Given the description of an element on the screen output the (x, y) to click on. 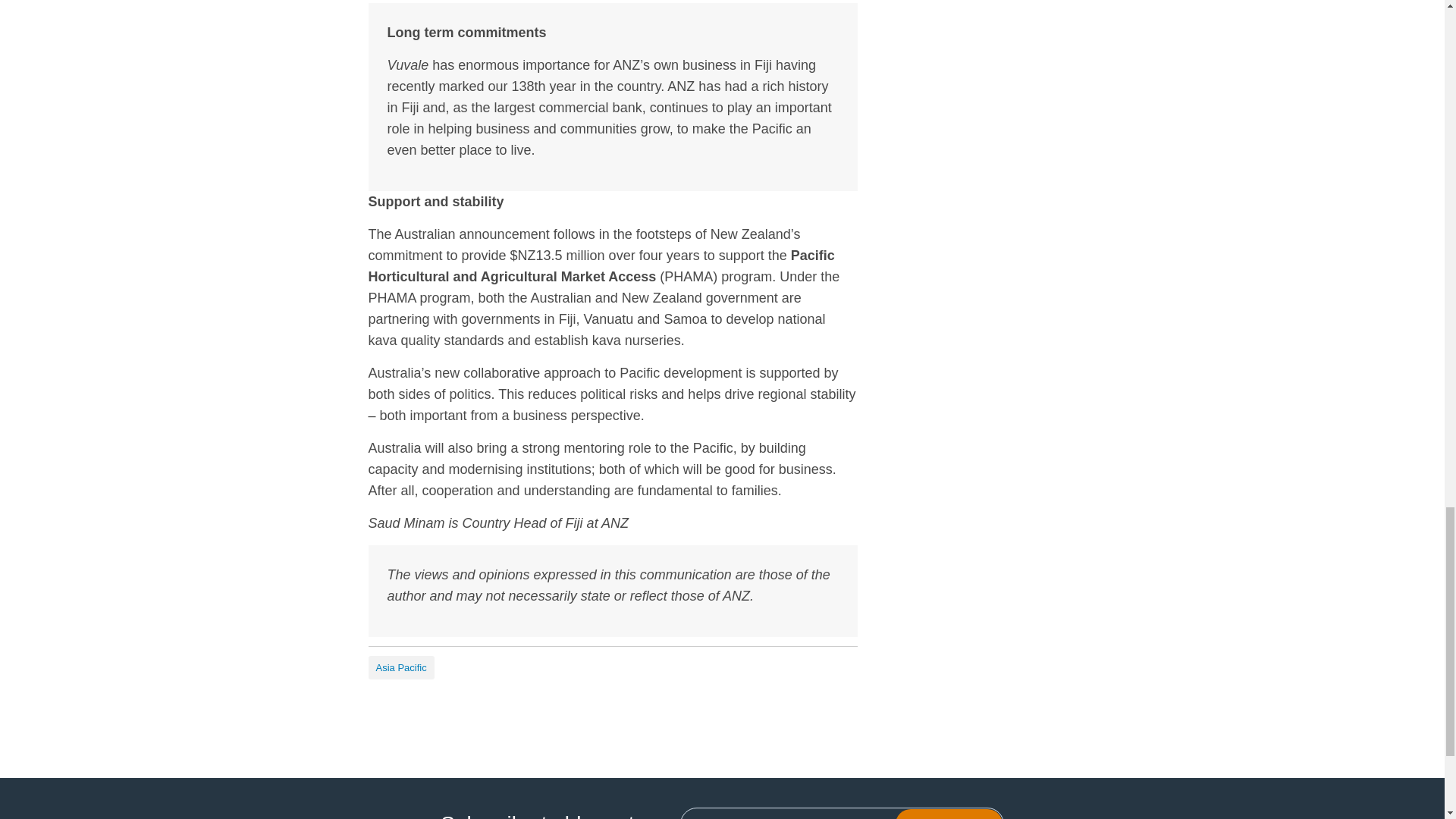
Asia Pacific (400, 667)
